Given the description of an element on the screen output the (x, y) to click on. 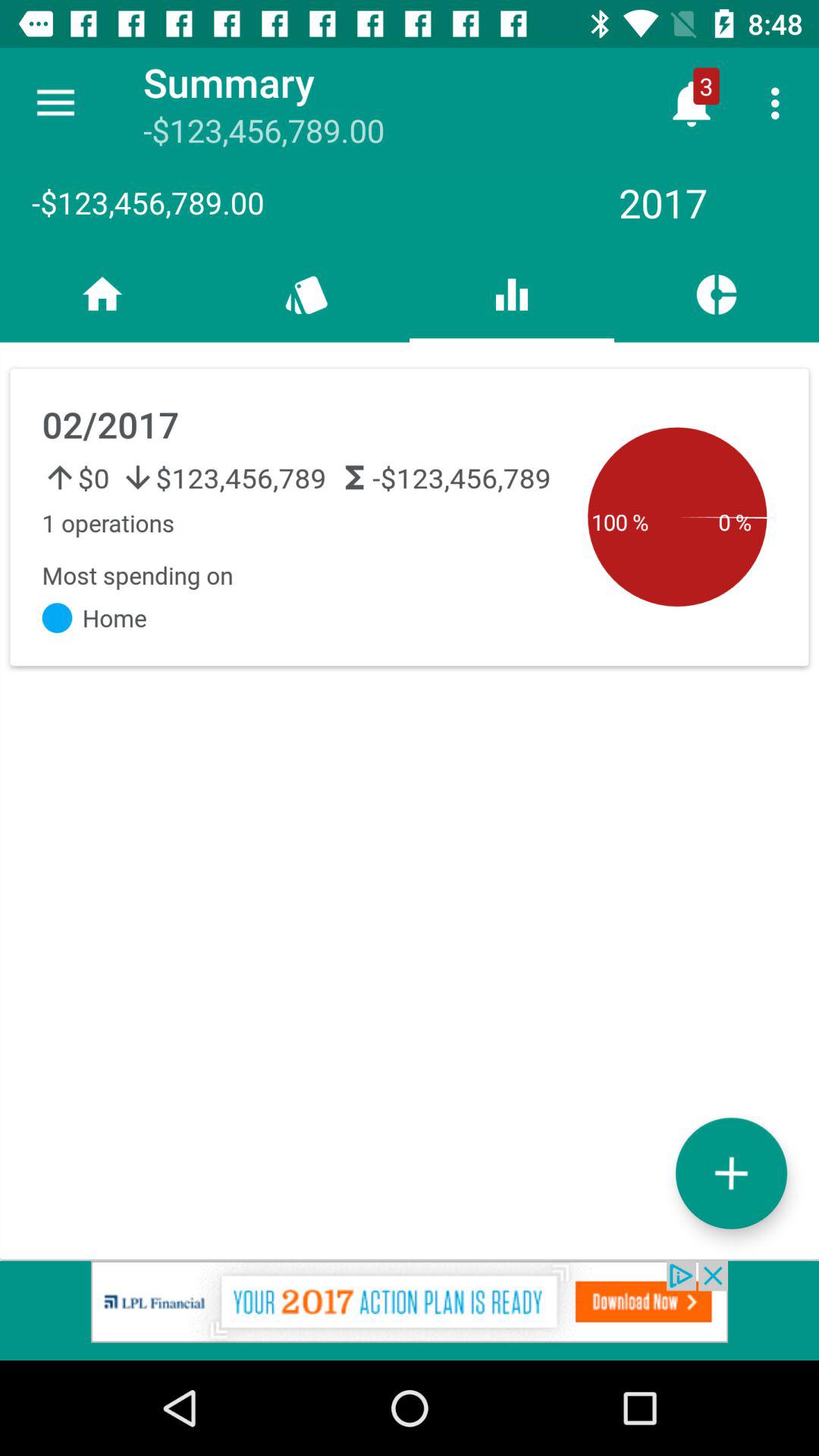
add page (731, 1173)
